Given the description of an element on the screen output the (x, y) to click on. 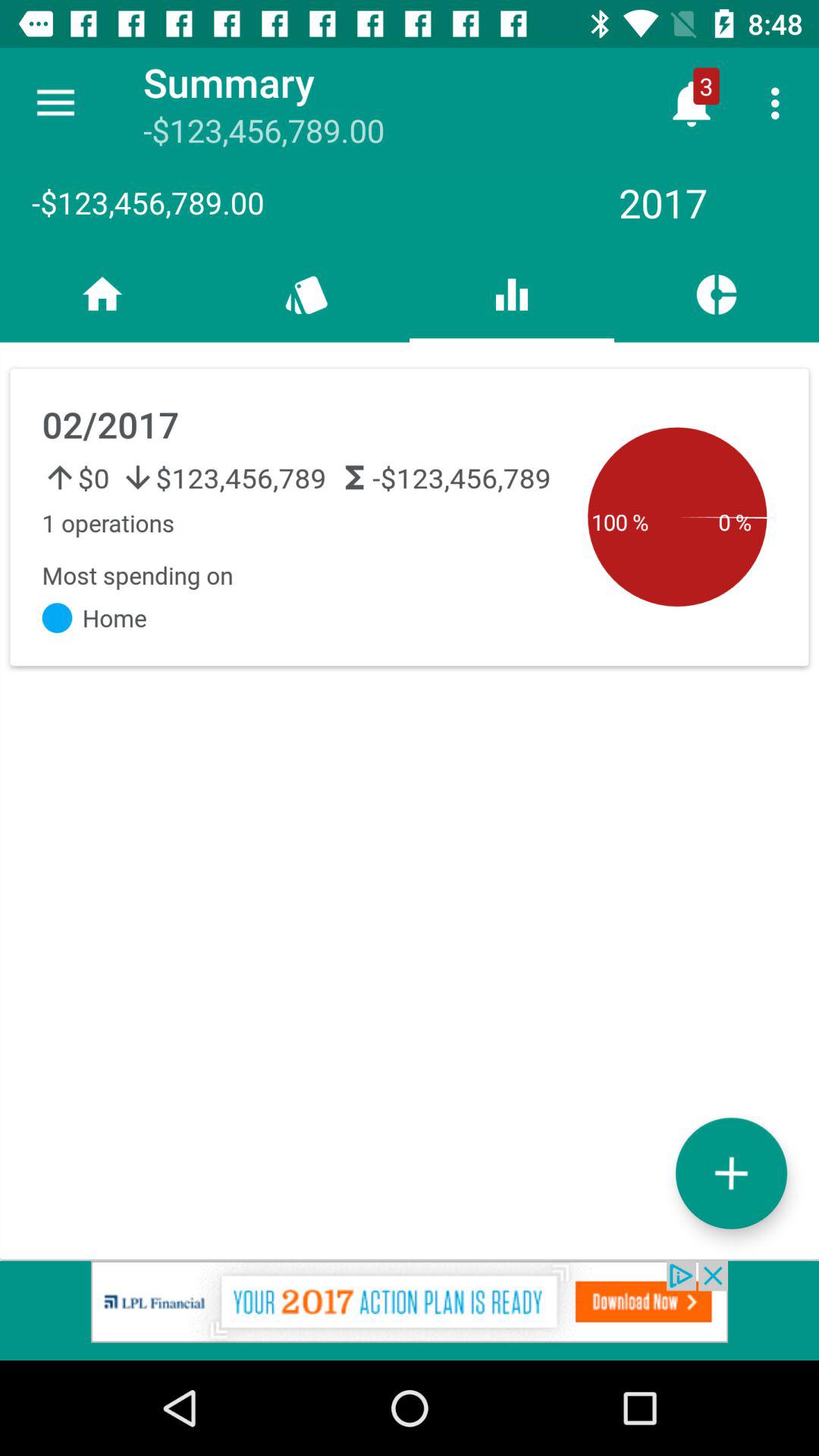
add page (731, 1173)
